Given the description of an element on the screen output the (x, y) to click on. 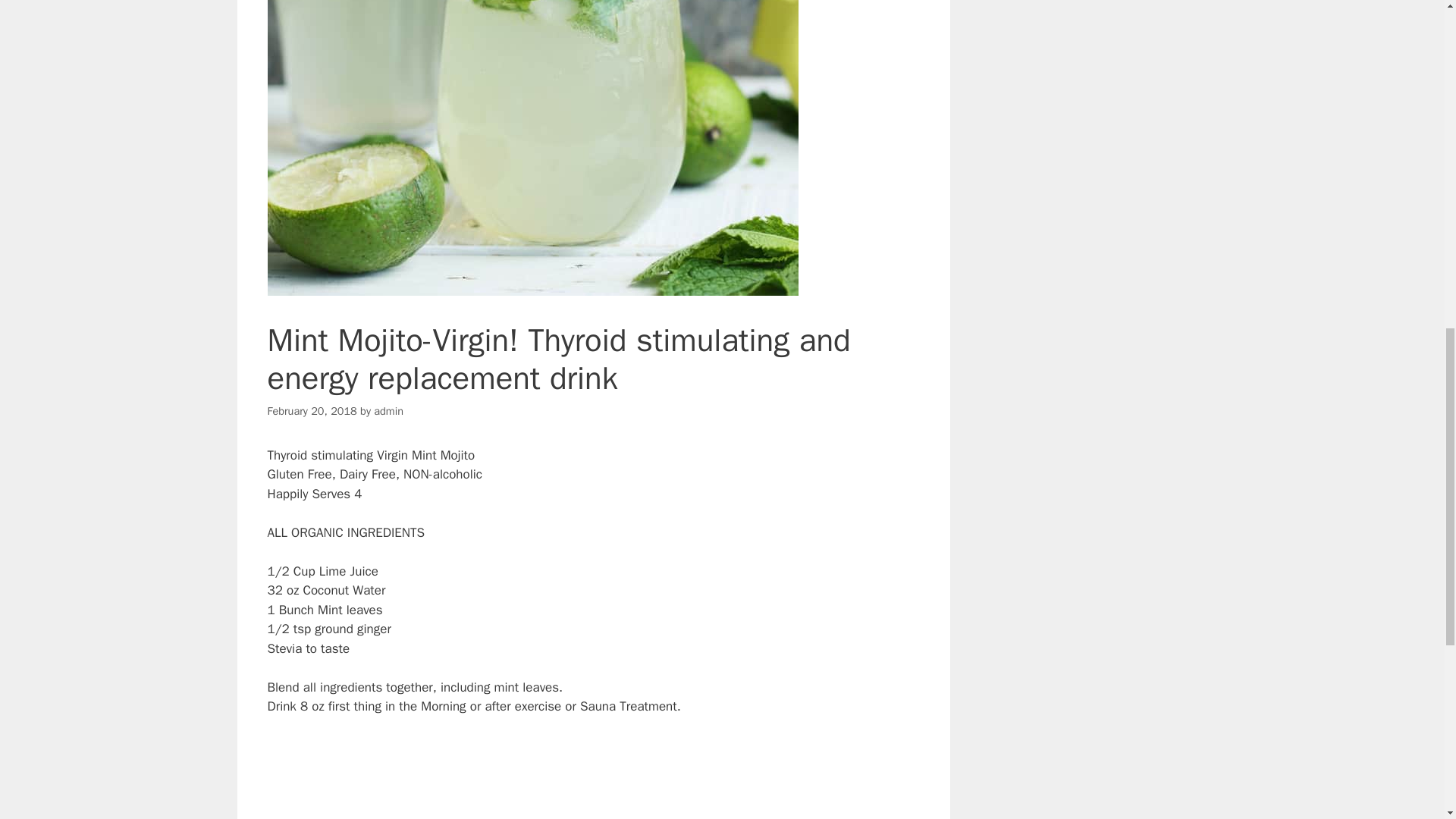
View all posts by admin (388, 410)
admin (388, 410)
